Given the description of an element on the screen output the (x, y) to click on. 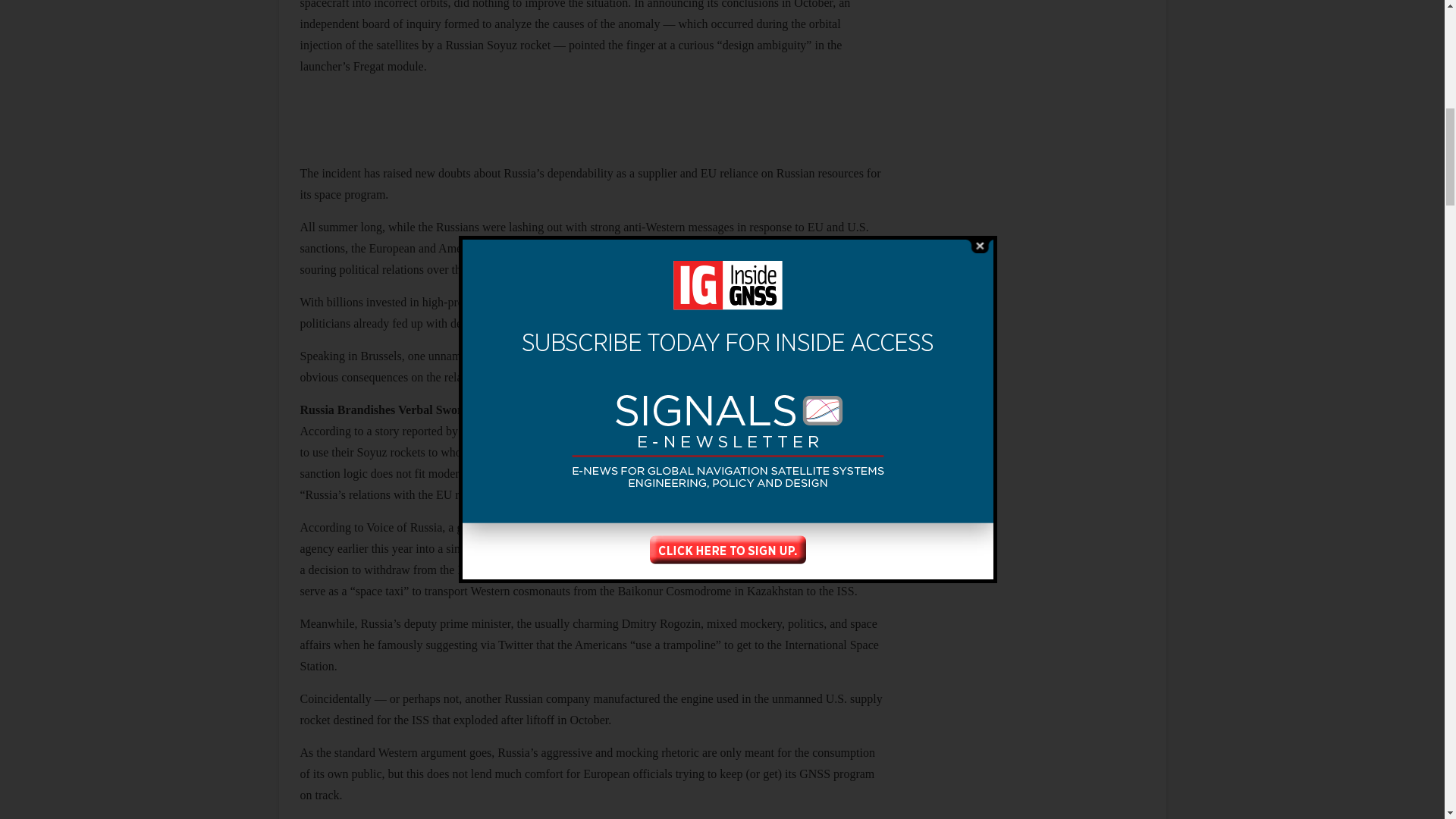
3rd party ad content (1030, 171)
3rd party ad content (591, 122)
3rd party ad content (1030, 756)
3rd party ad content (1030, 583)
3rd party ad content (1030, 30)
3rd party ad content (1030, 376)
